Given the description of an element on the screen output the (x, y) to click on. 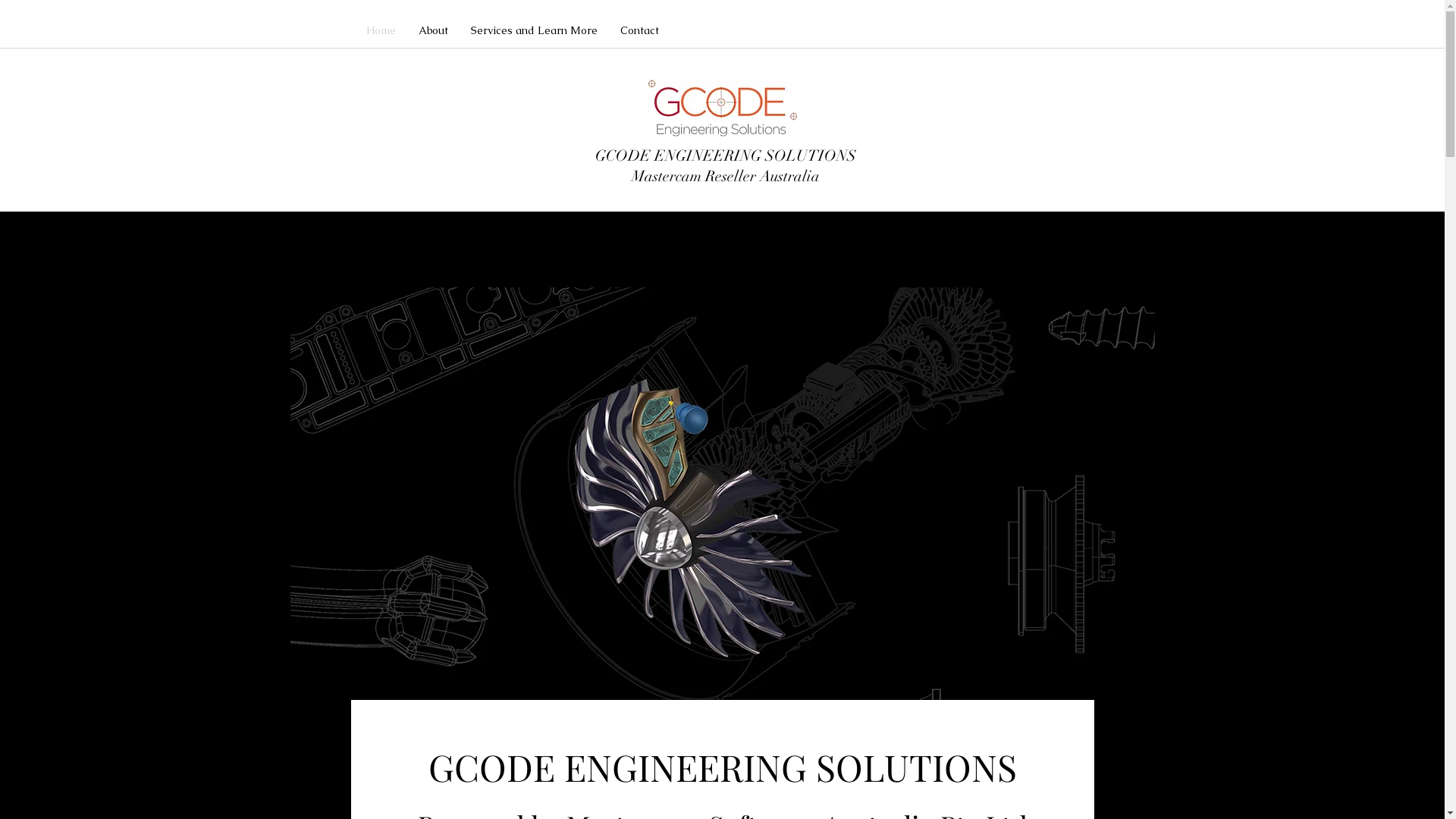
gcode-Logo-xero.jpg Element type: hover (722, 107)
About Element type: text (432, 29)
Contact Element type: text (638, 29)
Services and Learn More Element type: text (533, 29)
2017 desktop background_1280X1024_dark.jpg Element type: hover (721, 514)
Home Element type: text (380, 29)
